Given the description of an element on the screen output the (x, y) to click on. 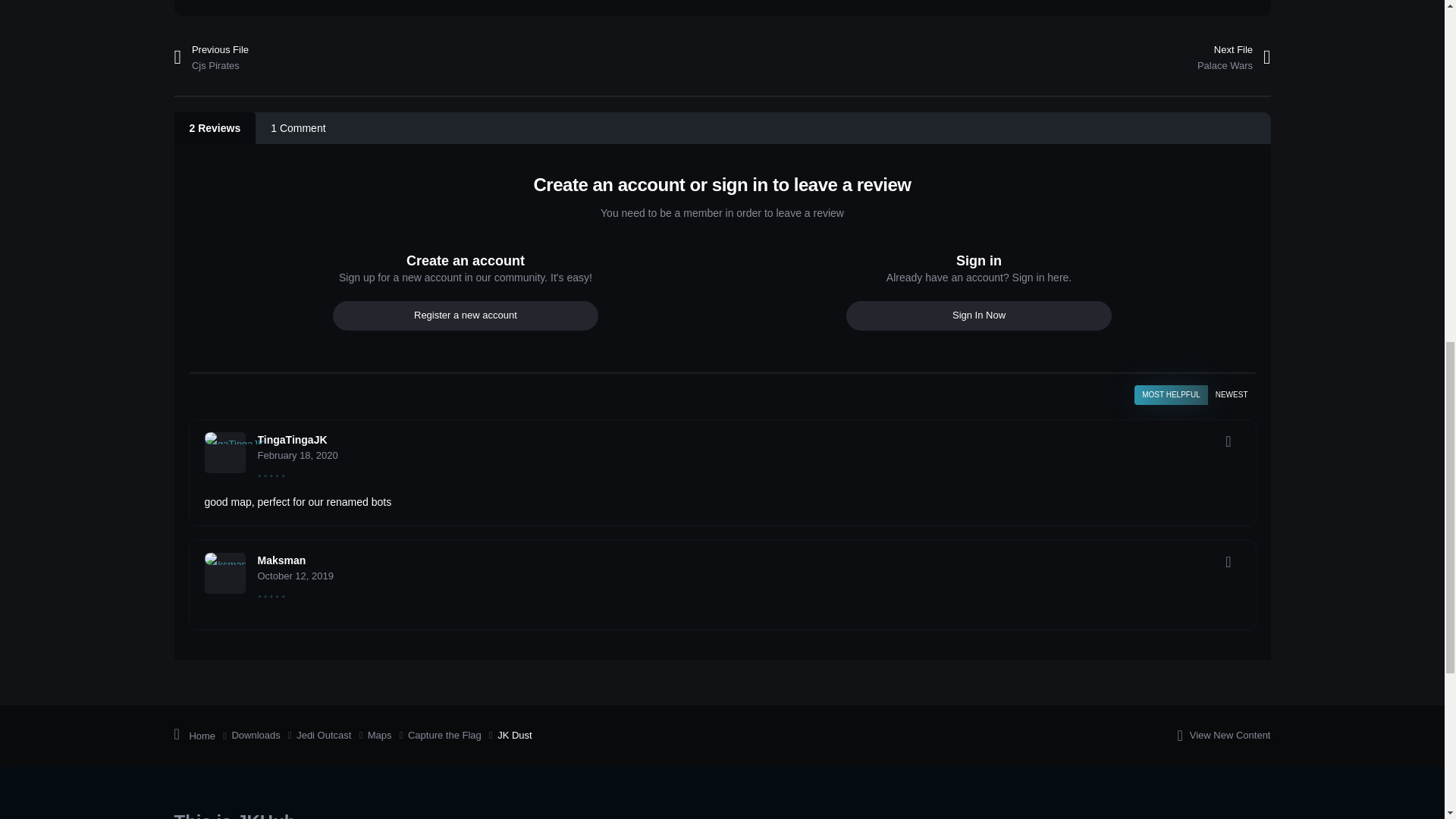
Go to Maksman's profile (225, 572)
Go to TingaTingaJK's profile (292, 439)
2 Reviews (215, 128)
1 Comment (298, 128)
Go to TingaTingaJK's profile (225, 452)
More options... (1227, 441)
Previous File (306, 57)
Next File (1138, 57)
